Given the description of an element on the screen output the (x, y) to click on. 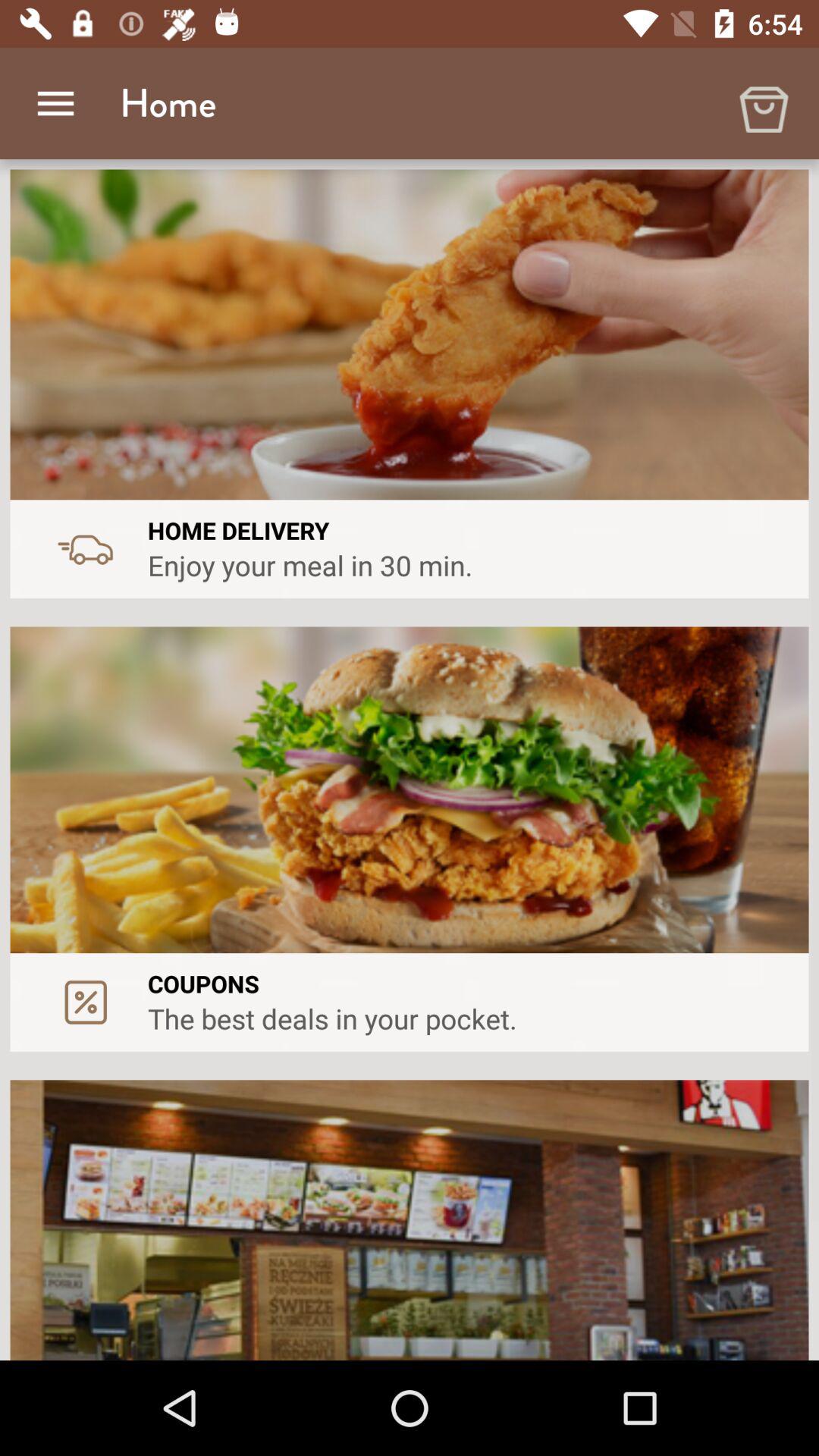
click the add to cart button (763, 103)
